Given the description of an element on the screen output the (x, y) to click on. 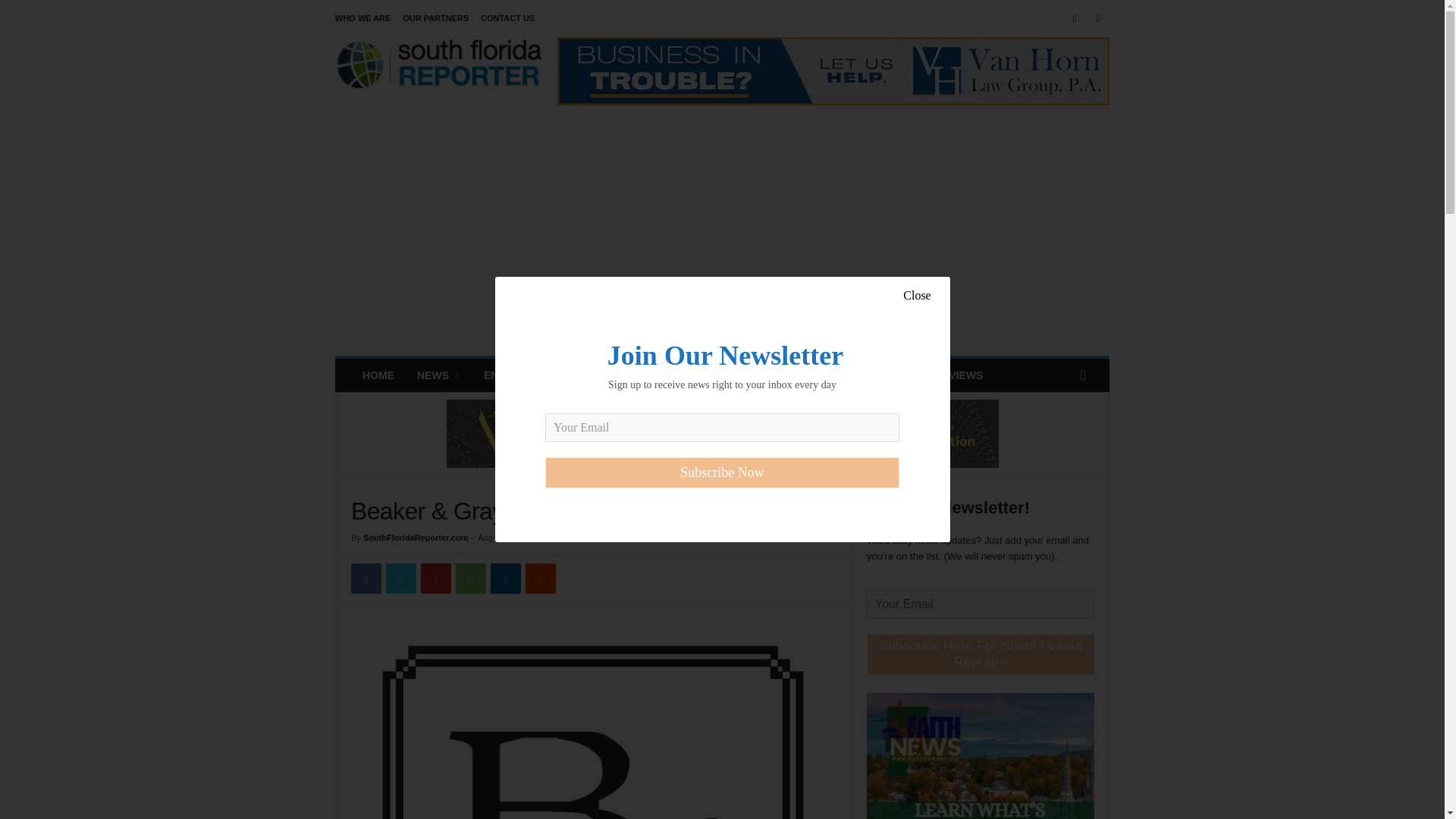
WHO WE ARE (362, 17)
WhatsApp (470, 578)
TODAY IS (800, 375)
WINE REVIEWS (942, 375)
CONTACT US (507, 17)
ENTERTAINMENT (528, 375)
NEWS (438, 375)
ENVIRONMENTAL (642, 375)
Twitter (400, 578)
HOME (378, 375)
VIDEO (863, 375)
ReddIt (540, 578)
OUR PARTNERS (435, 17)
Pinterest (435, 578)
